Given the description of an element on the screen output the (x, y) to click on. 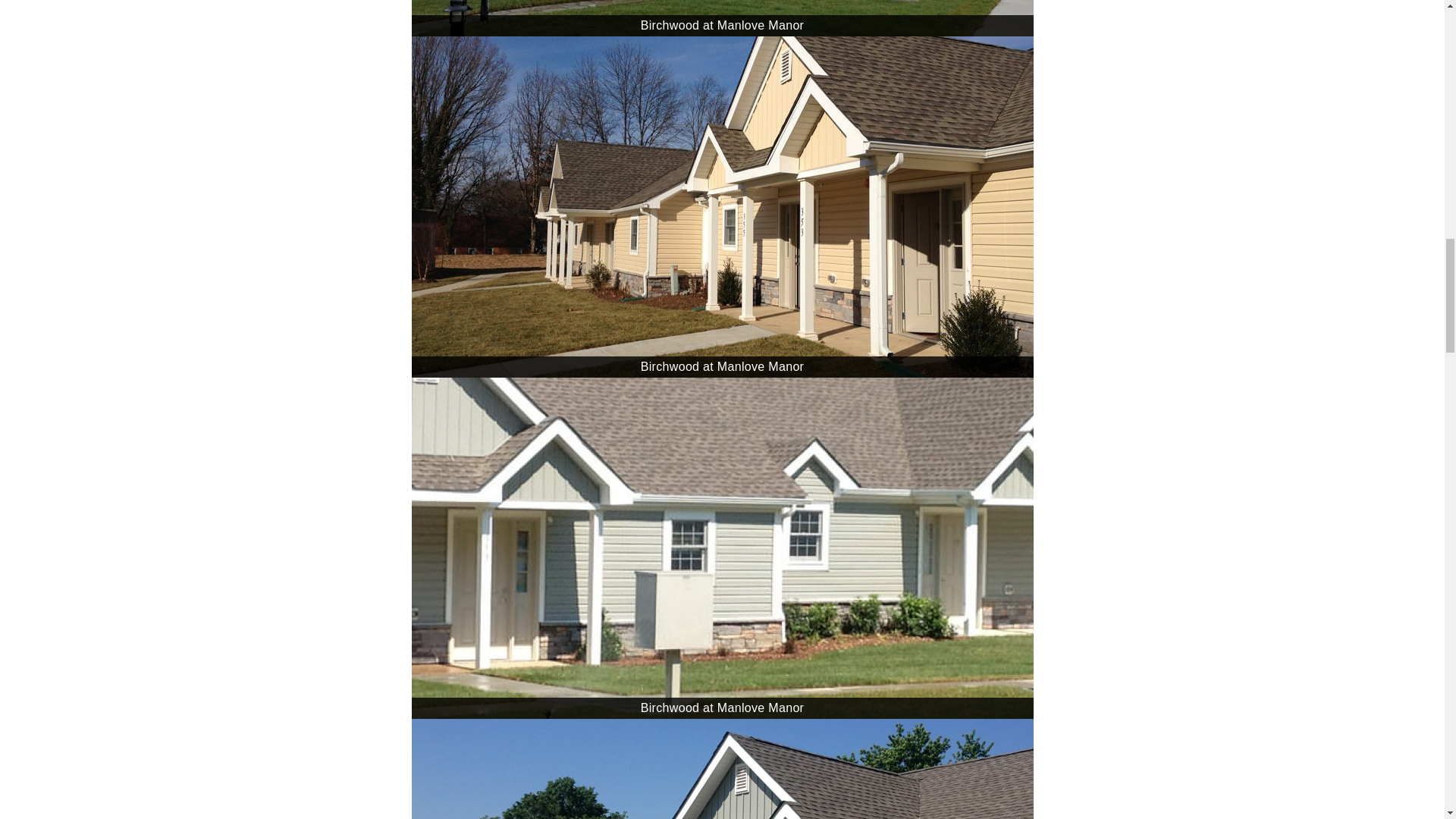
Birchwood at Manlove Manor (721, 769)
Birchwood at Manlove Manor (721, 18)
